Given the description of an element on the screen output the (x, y) to click on. 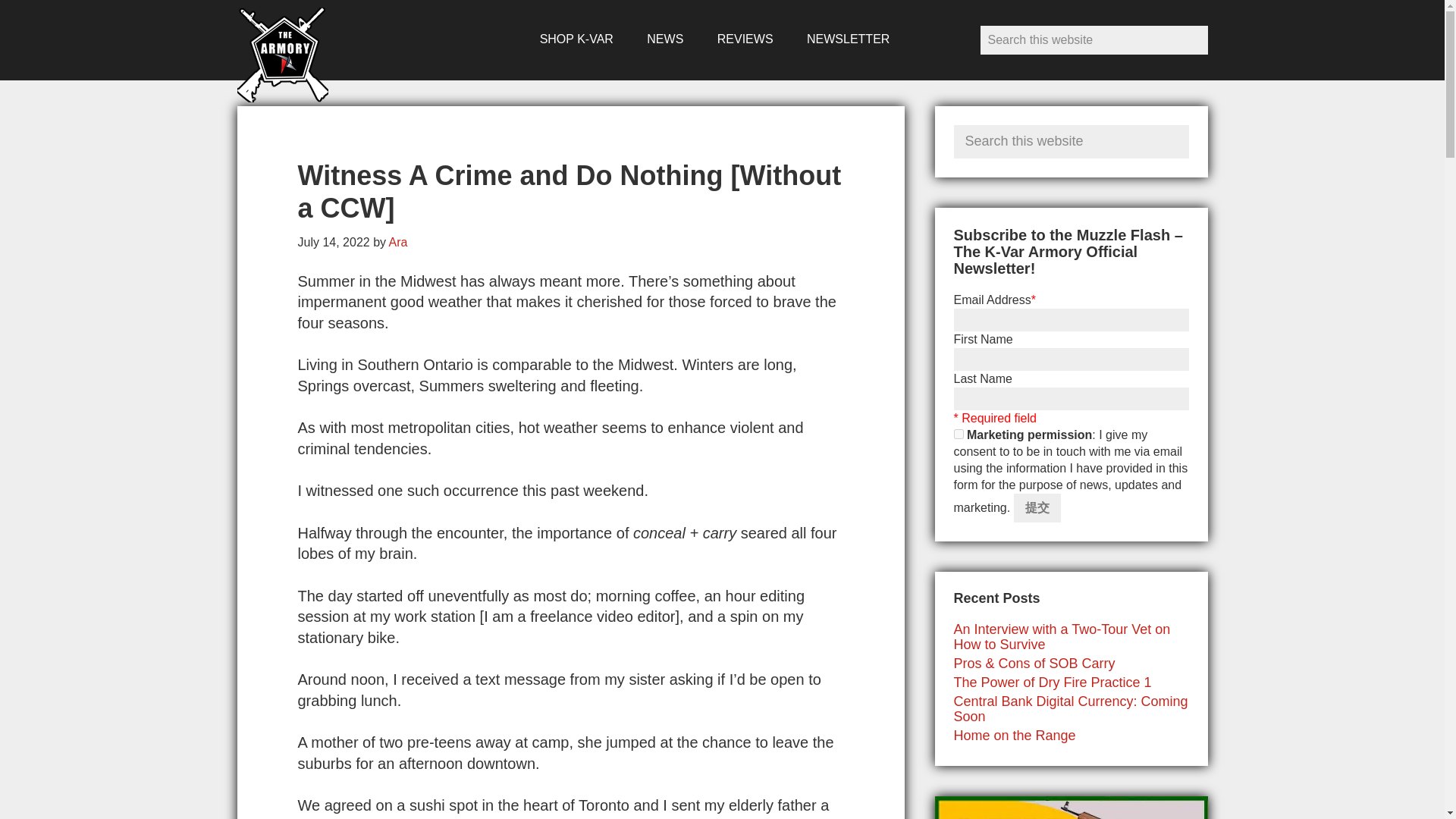
Search (1198, 130)
Search (1198, 130)
Home on the Range (1014, 735)
Search (1192, 39)
on (958, 433)
REVIEWS (745, 39)
The Power of Dry Fire Practice 1 (1052, 682)
Check Out Our Gun Broker Auctions! (1070, 807)
Search (1192, 39)
An Interview with a Two-Tour Vet on How to Survive (1061, 636)
NEWSLETTER (848, 39)
Search (1198, 130)
SHOP K-VAR (576, 39)
Ara (397, 241)
